Given the description of an element on the screen output the (x, y) to click on. 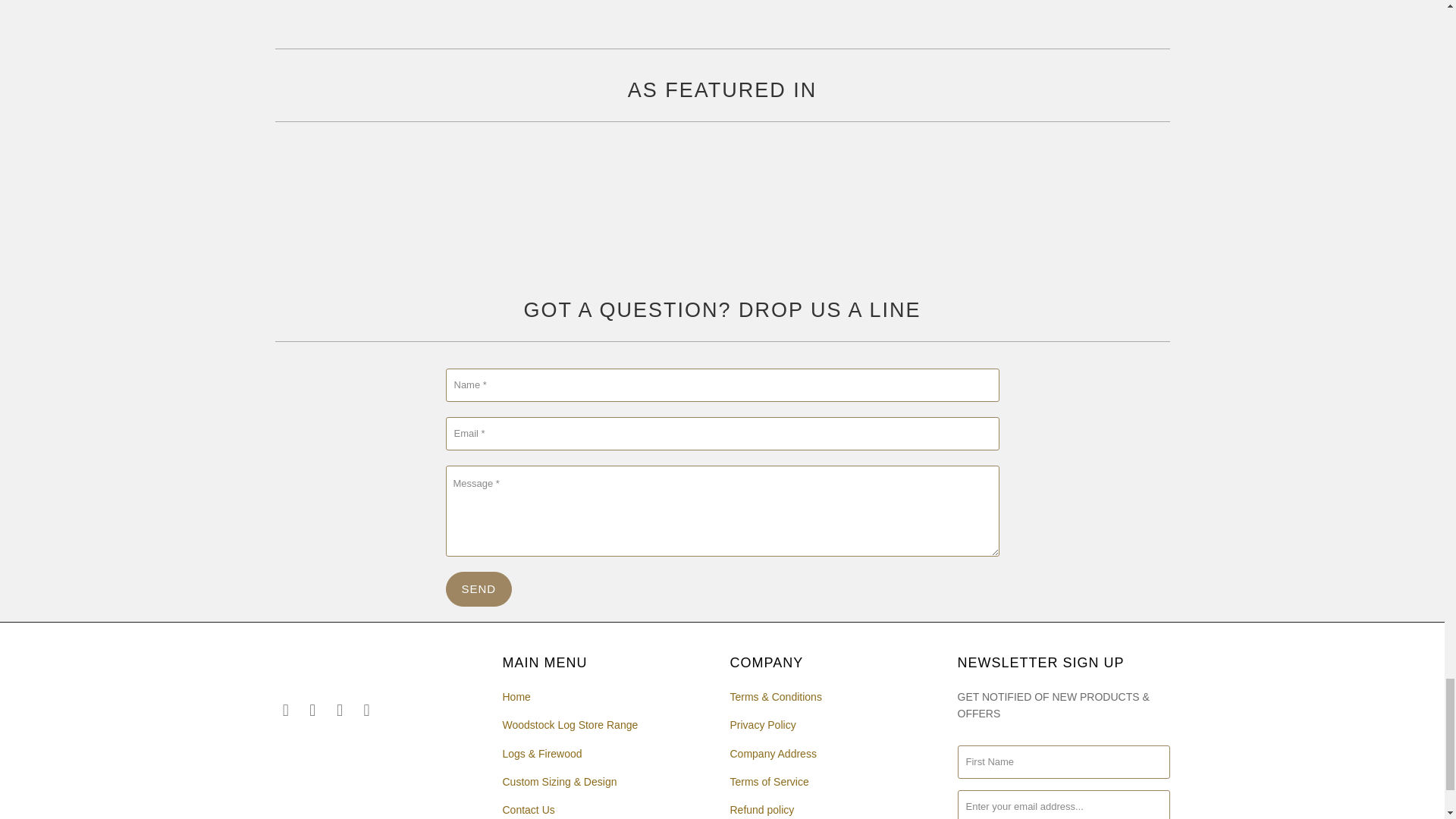
Send (478, 588)
